Given the description of an element on the screen output the (x, y) to click on. 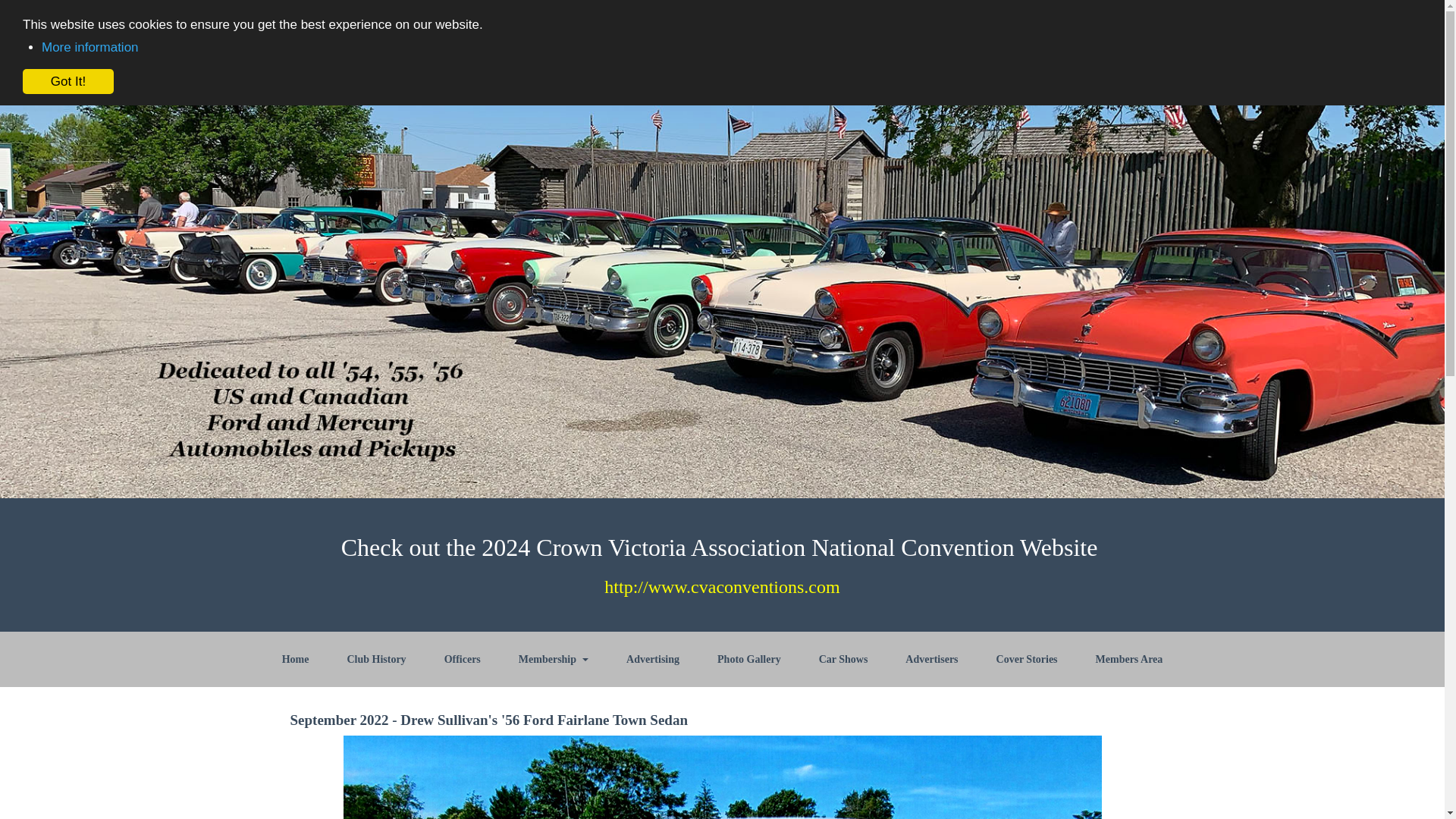
Club History (376, 659)
Home (463, 27)
Photo Gallery (748, 659)
Instagram (1108, 27)
More information (90, 47)
Facebook (1019, 27)
Got It! (68, 80)
Advertisers (931, 659)
Members Area (1129, 659)
Home (296, 659)
Advertising (652, 659)
Membership (553, 659)
Officers (462, 659)
Car Shows (842, 659)
Cover Stories (1026, 659)
